Given the description of an element on the screen output the (x, y) to click on. 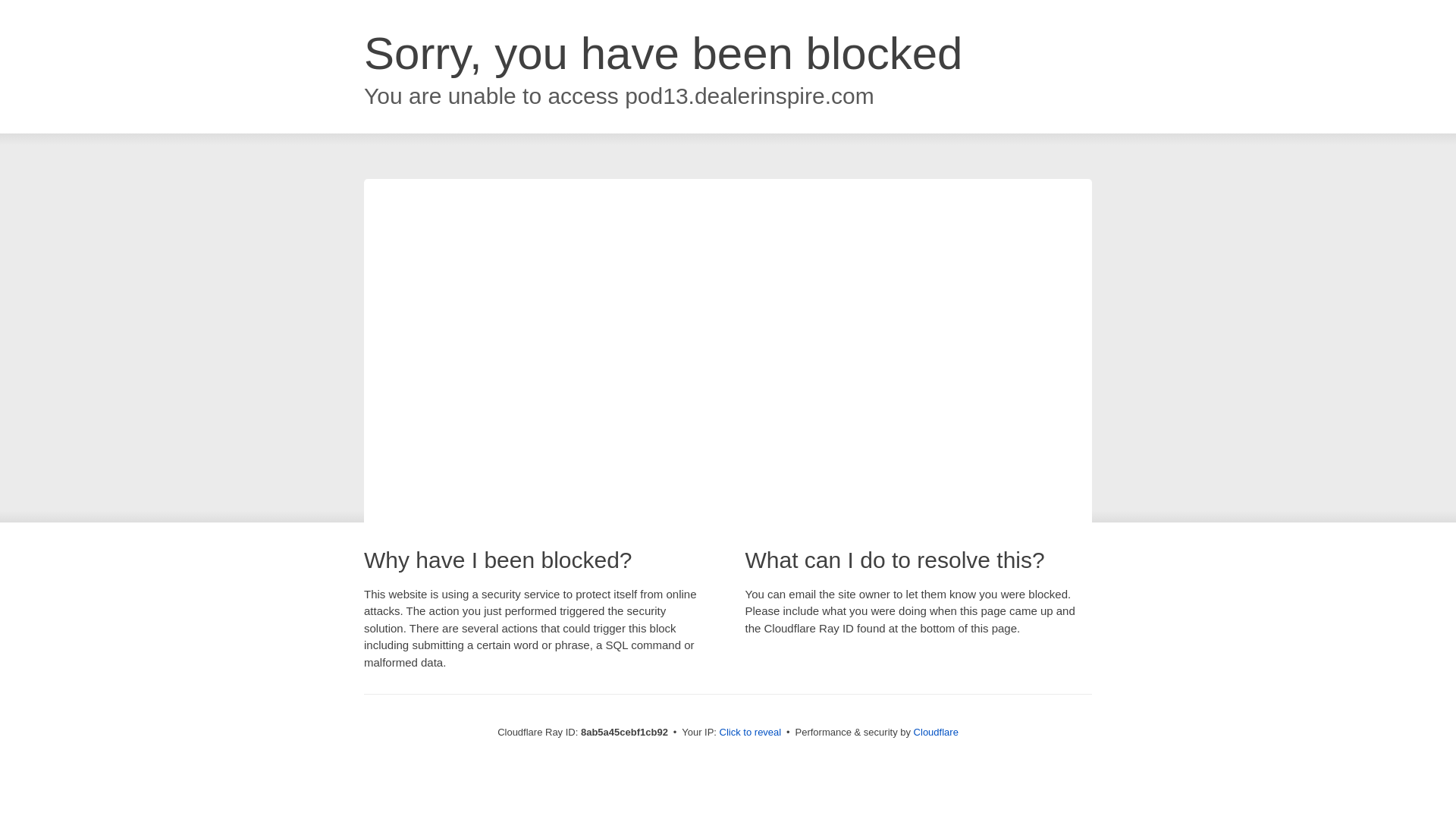
Click to reveal (750, 732)
Cloudflare (936, 731)
